Given the description of an element on the screen output the (x, y) to click on. 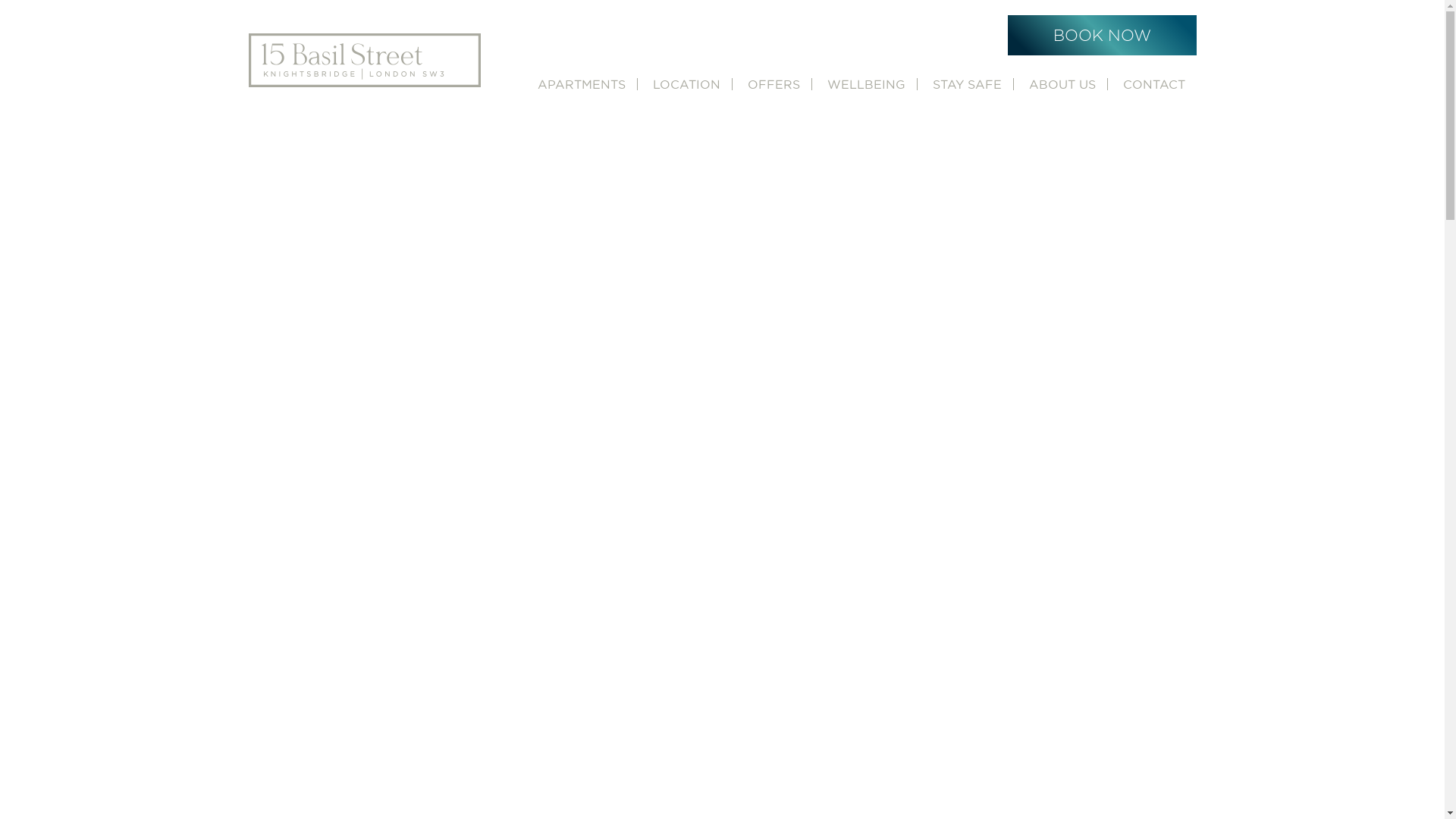
CONTACT Element type: text (1153, 84)
LOCATION Element type: text (686, 84)
STAY SAFE Element type: text (966, 84)
BOOK NOW Element type: text (1101, 35)
WELLBEING Element type: text (865, 84)
OFFERS Element type: text (772, 84)
15 Basil Street Element type: text (364, 60)
Skip to main content Element type: text (0, 0)
ABOUT US Element type: text (1062, 84)
APARTMENTS Element type: text (581, 84)
